Given the description of an element on the screen output the (x, y) to click on. 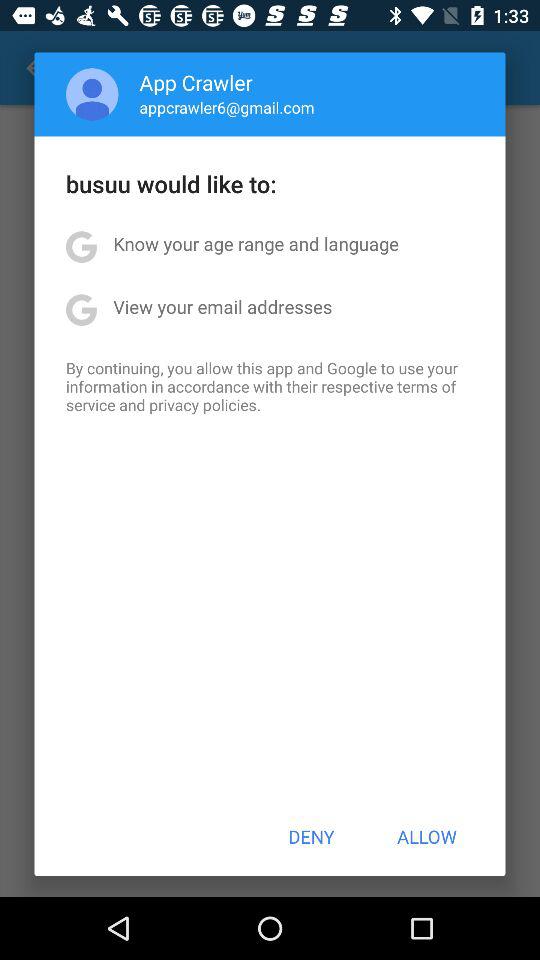
tap the icon above the view your email item (255, 243)
